Given the description of an element on the screen output the (x, y) to click on. 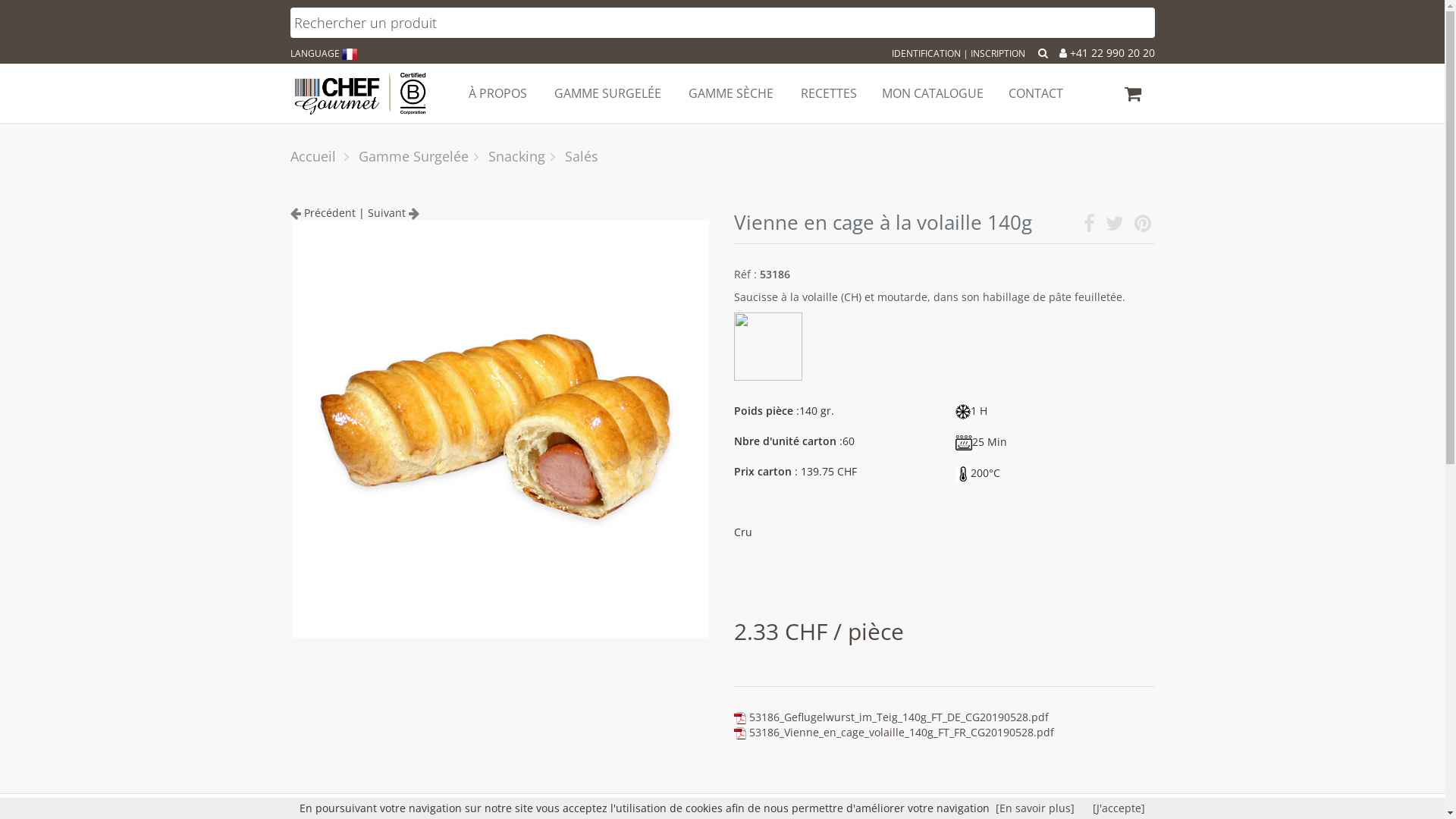
Suivant Element type: text (392, 212)
Partager sur Twitter Element type: hover (1114, 226)
Partager sur Facebook Element type: hover (1088, 226)
[J'accepte] Element type: text (1118, 807)
Partager sur Pinterest Element type: hover (1142, 226)
Voir le panier Element type: hover (1132, 95)
[En savoir plus] Element type: text (1034, 807)
Snacking Element type: text (516, 156)
LANGUAGE Element type: text (323, 53)
CONTACT Element type: text (1034, 92)
MON CATALOGUE Element type: text (931, 92)
INSCRIPTION Element type: text (997, 53)
RECETTES Element type: text (827, 92)
53186_Geflugelwurst_im_Teig_140g_FT_DE_CG20190528.pdf Element type: text (898, 716)
Accueil Element type: text (312, 156)
IDENTIFICATION Element type: text (925, 53)
53186_Vienne_en_cage_volaille_140g_FT_FR_CG20190528.pdf Element type: text (901, 731)
